Given the description of an element on the screen output the (x, y) to click on. 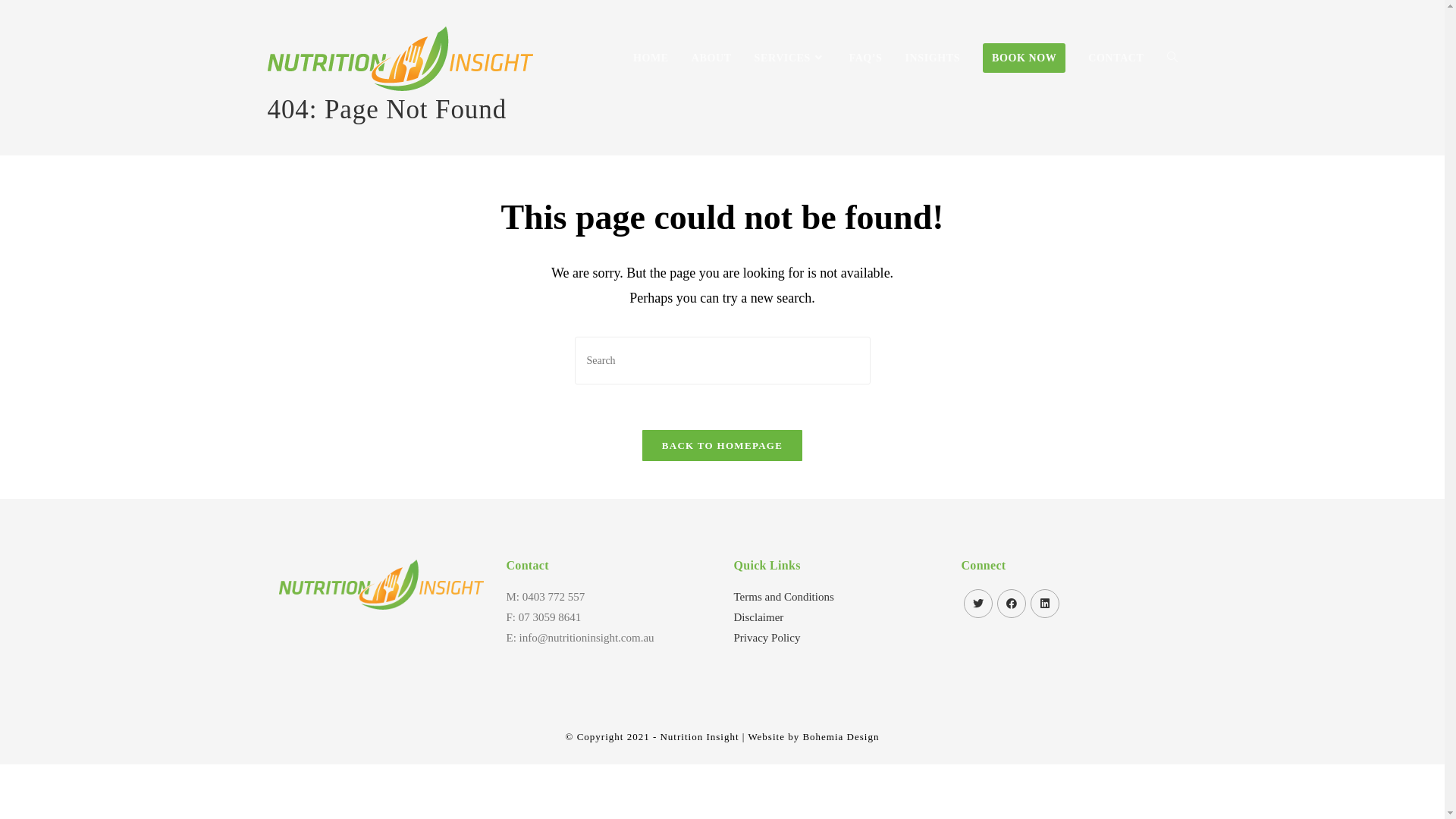
HOME Element type: text (650, 58)
Privacy Policy Element type: text (767, 637)
BOOK NOW Element type: text (1023, 58)
CONTACT Element type: text (1115, 58)
Website by Bohemia Design Element type: text (812, 736)
Terms and Conditions Element type: text (784, 596)
Disclaimer Element type: text (759, 617)
ABOUT Element type: text (711, 58)
BACK TO HOMEPAGE Element type: text (722, 445)
SERVICES Element type: text (790, 58)
INSIGHTS Element type: text (933, 58)
